Given the description of an element on the screen output the (x, y) to click on. 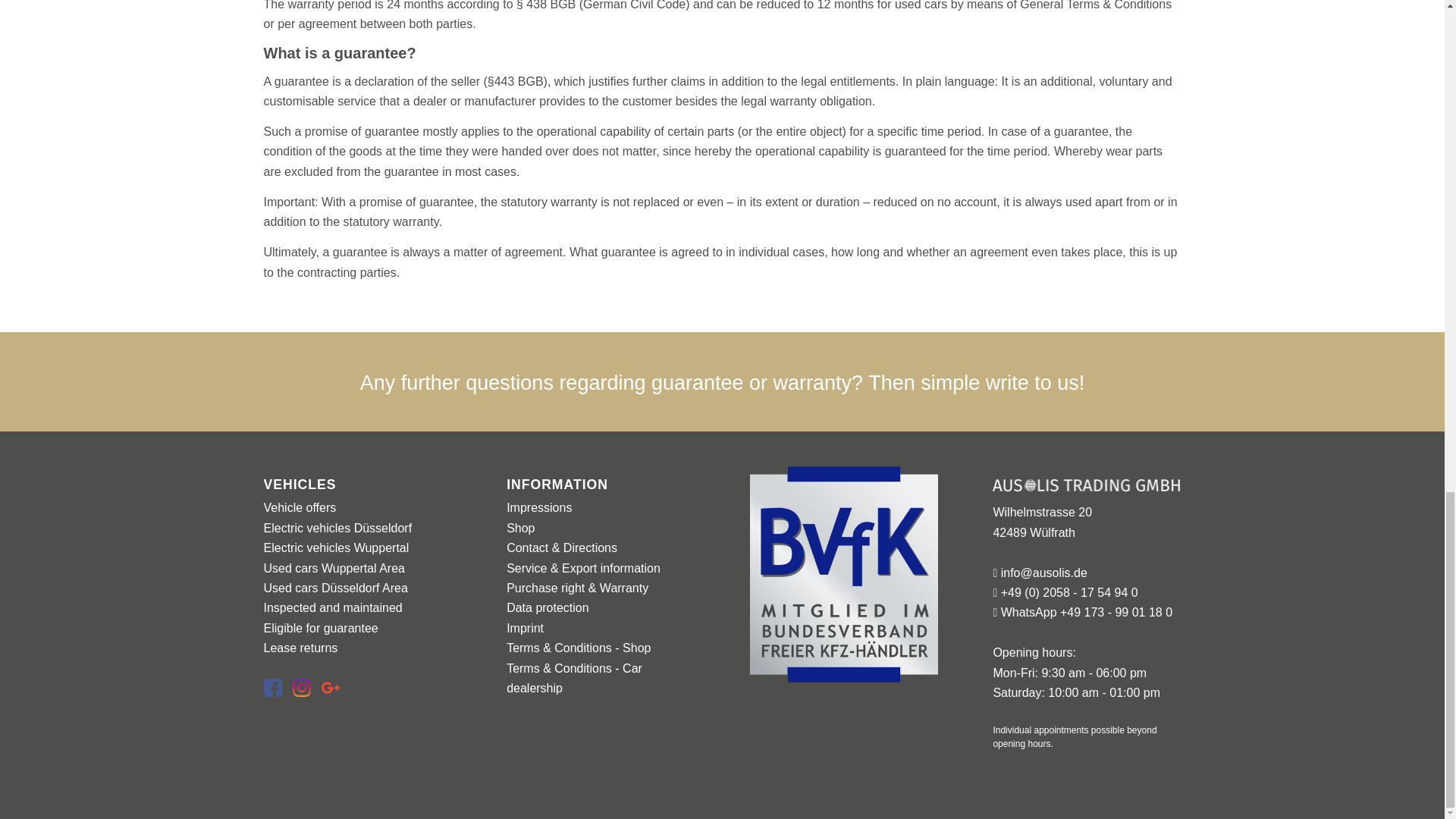
Vehicle offers (299, 507)
Used cars Wuppertal Area (333, 567)
Data protection (547, 607)
Electric vehicles Wuppertal (336, 547)
Lease returns (300, 647)
Impressions (539, 507)
Shop (520, 527)
Inspected and maintained (333, 607)
Eligible for guarantee (320, 627)
